Given the description of an element on the screen output the (x, y) to click on. 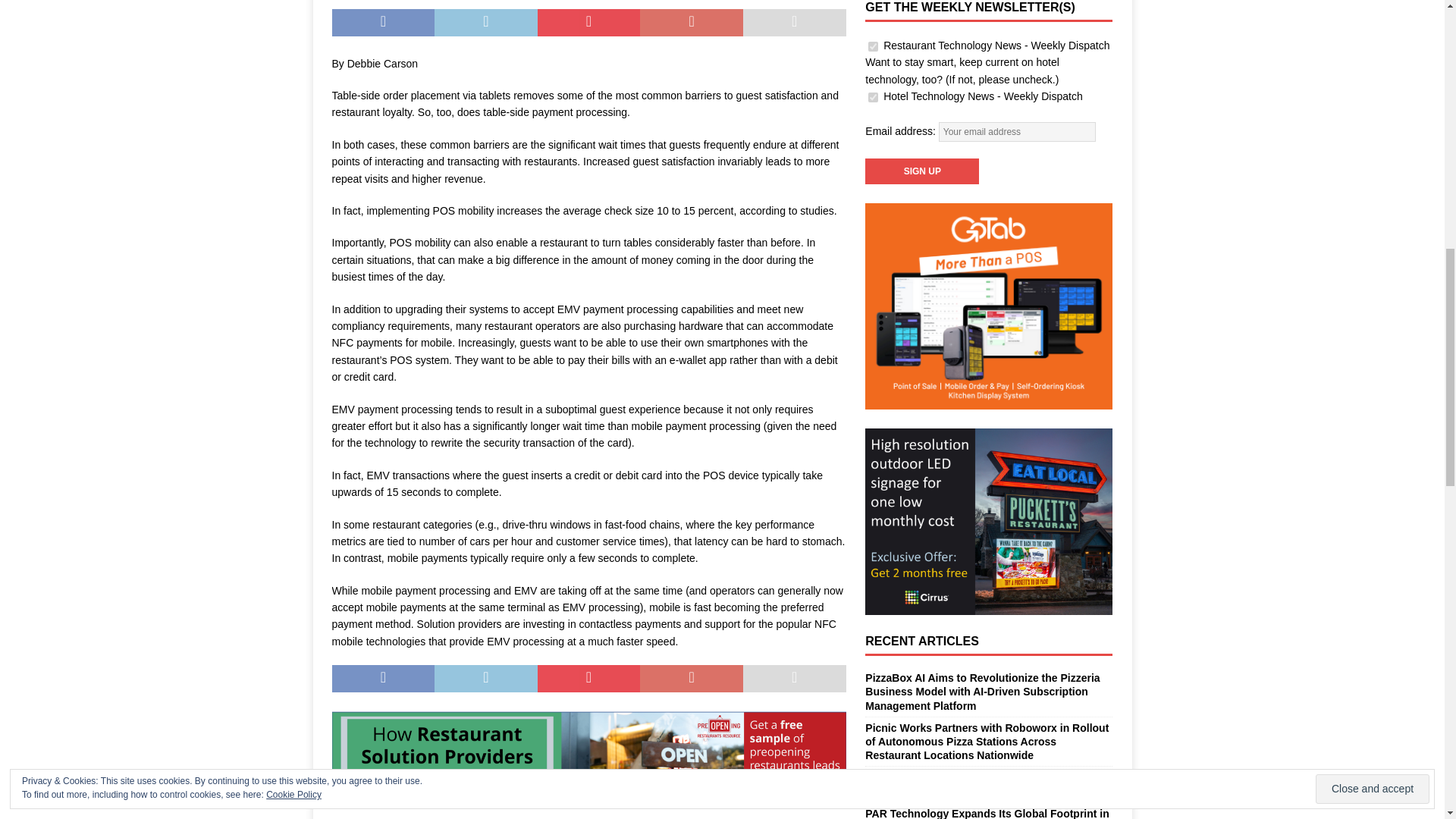
18125c9609 (872, 46)
Sign up (921, 171)
662a89223e (872, 97)
